Given the description of an element on the screen output the (x, y) to click on. 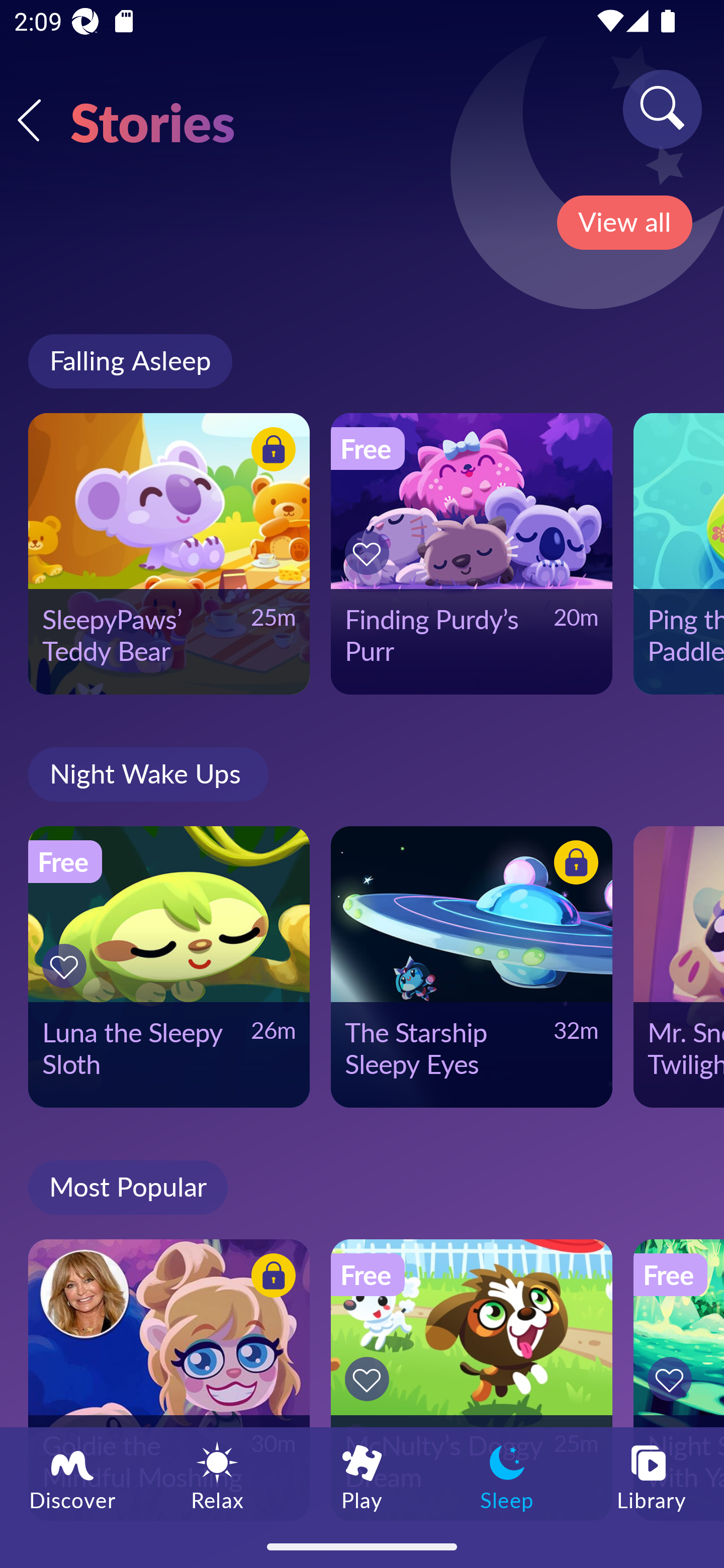
View all (624, 222)
Button (269, 451)
Button (369, 552)
Button (573, 865)
Button (67, 965)
Button (269, 1277)
Button (369, 1378)
Button (672, 1378)
Discover (72, 1475)
Relax (216, 1475)
Play (361, 1475)
Library (651, 1475)
